Given the description of an element on the screen output the (x, y) to click on. 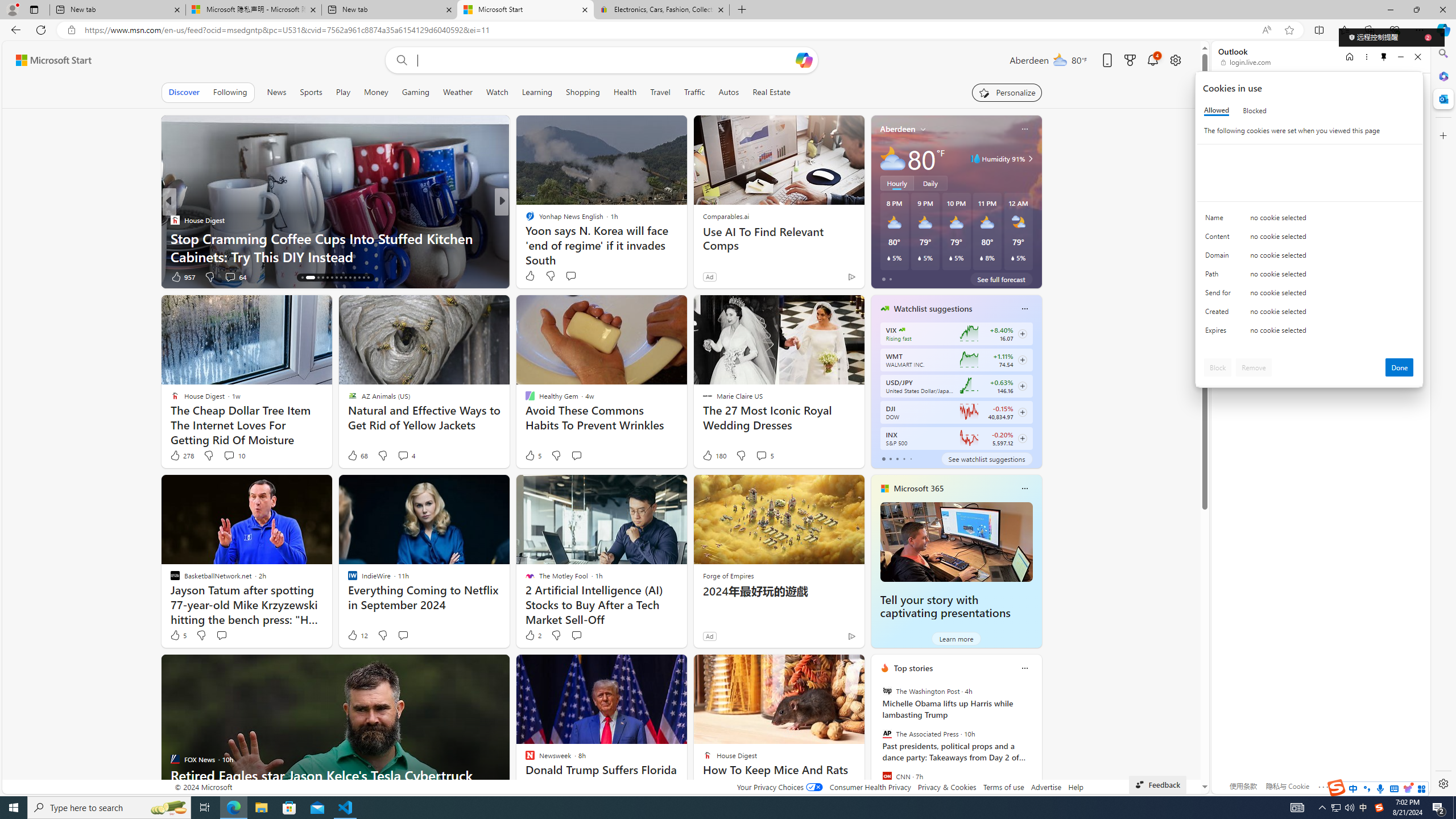
View comments 165 Comment (587, 276)
AutomationID: tab-28 (368, 277)
View comments 10 Comment (233, 455)
Class: c0153 c0157 (1309, 332)
AutomationID: tab-21 (336, 277)
The Washington Post (886, 691)
Done (1399, 367)
tab-0 (882, 458)
Remove (1253, 367)
Content (1219, 239)
My location (922, 128)
Tell your story with captivating presentations (955, 541)
